Given the description of an element on the screen output the (x, y) to click on. 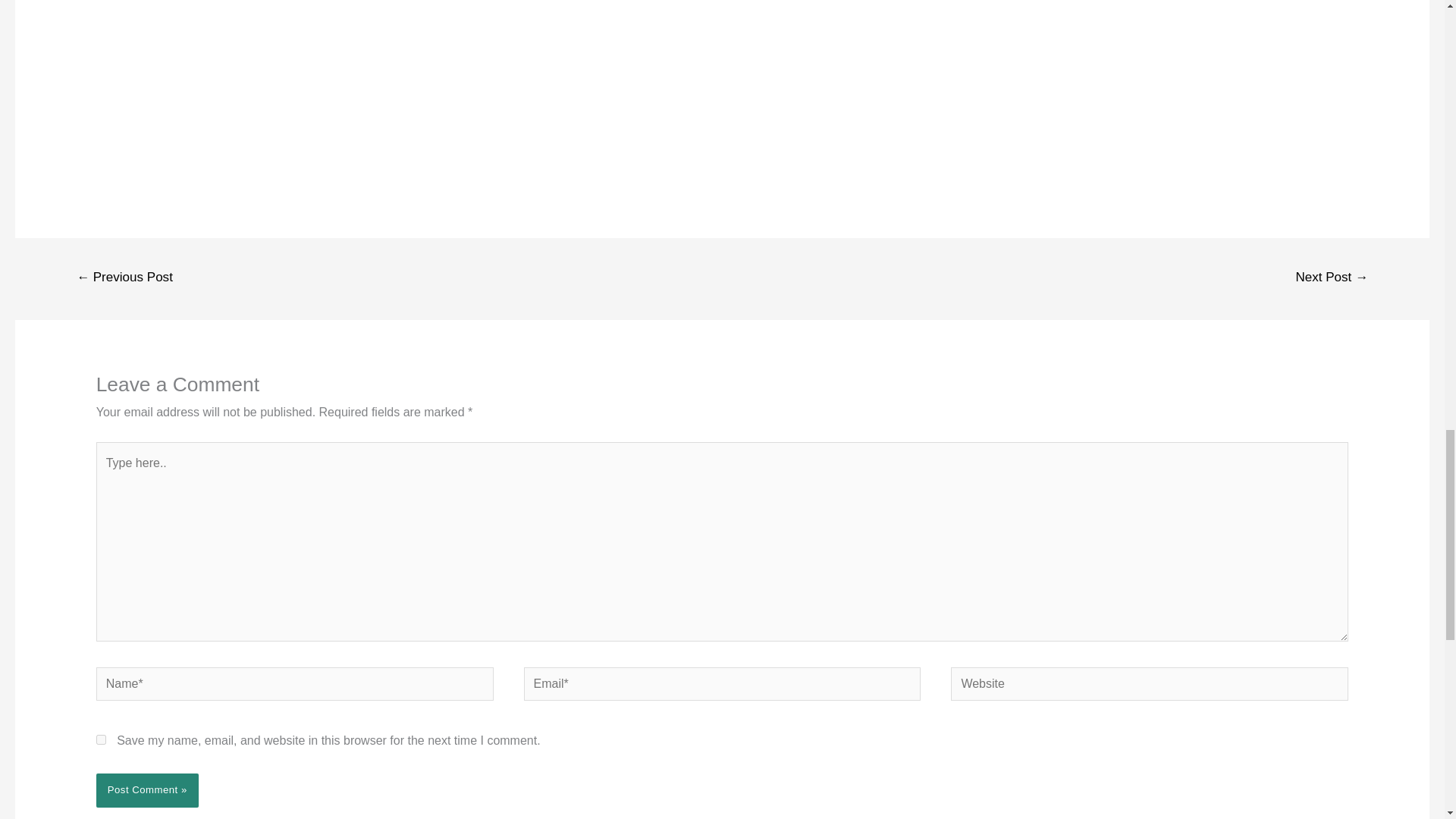
yes (101, 739)
